Given the description of an element on the screen output the (x, y) to click on. 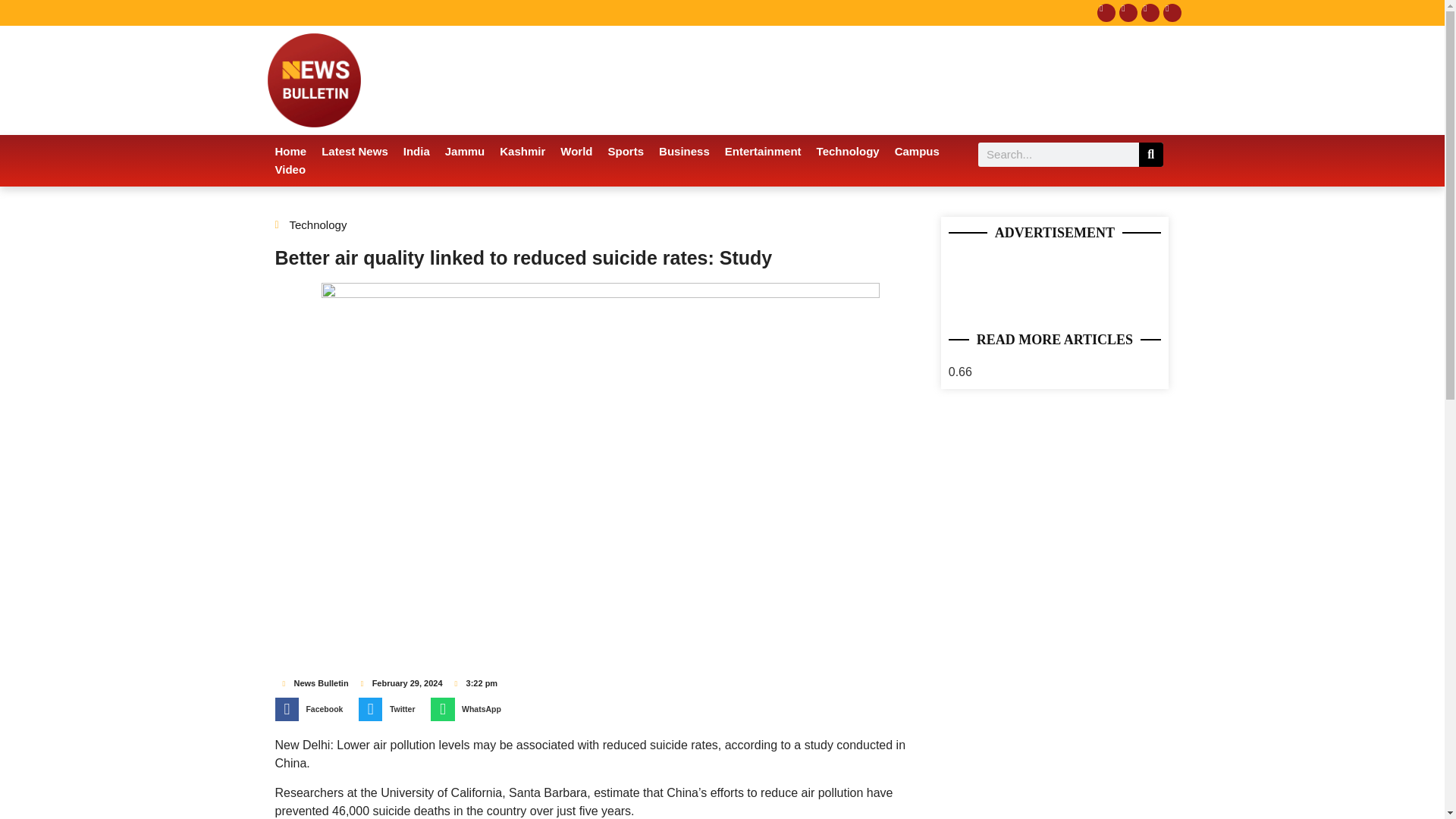
Entertainment (763, 151)
Home (290, 151)
Video (289, 169)
India (417, 151)
Sports (625, 151)
Business (683, 151)
Campus (916, 151)
Latest News (355, 151)
Technology (847, 151)
World (576, 151)
Jammu (465, 151)
Kashmir (522, 151)
